Given the description of an element on the screen output the (x, y) to click on. 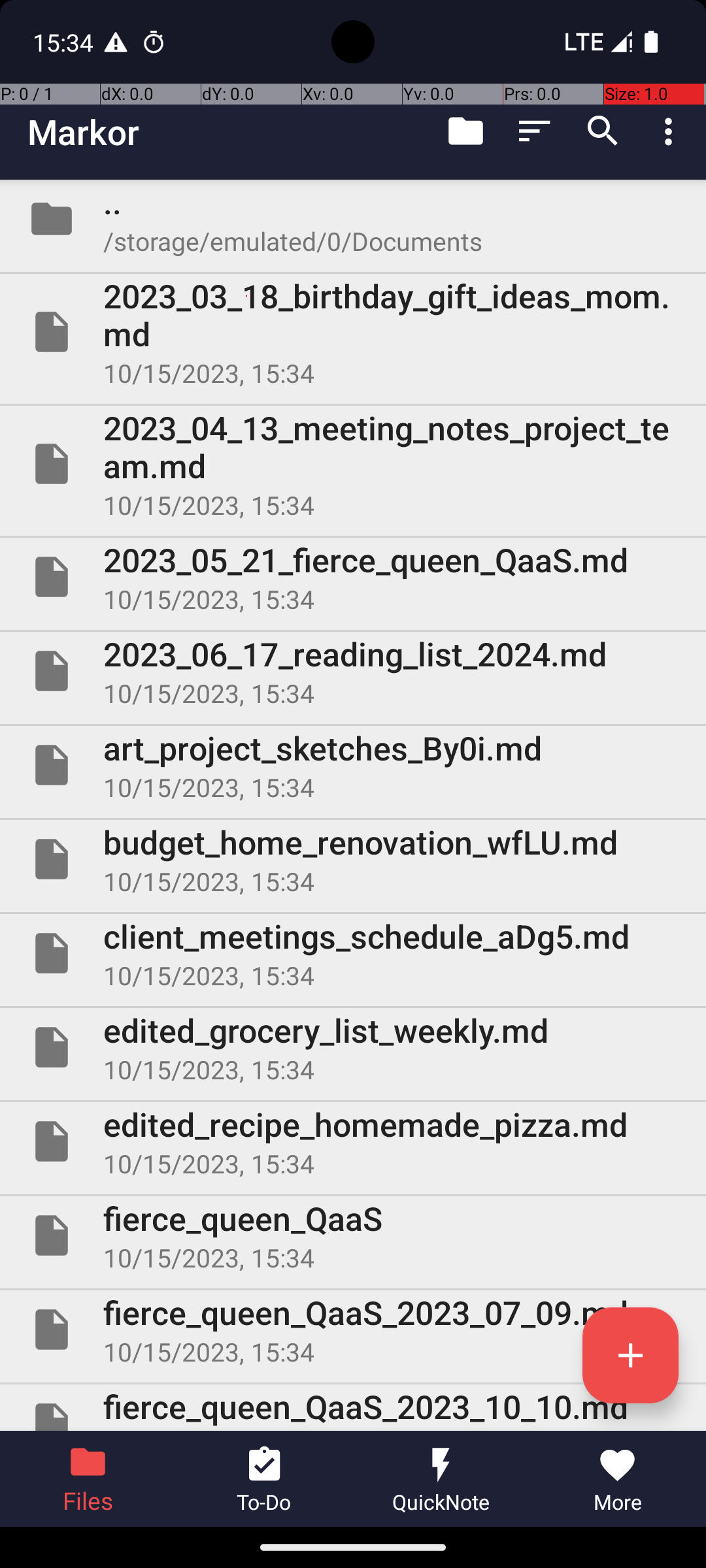
File 2023_03_18_birthday_gift_ideas_mom.md  Element type: android.widget.LinearLayout (353, 331)
File 2023_04_13_meeting_notes_project_team.md  Element type: android.widget.LinearLayout (353, 463)
File 2023_05_21_fierce_queen_QaaS.md  Element type: android.widget.LinearLayout (353, 576)
File 2023_06_17_reading_list_2024.md  Element type: android.widget.LinearLayout (353, 670)
File art_project_sketches_By0i.md  Element type: android.widget.LinearLayout (353, 764)
File budget_home_renovation_wfLU.md  Element type: android.widget.LinearLayout (353, 858)
File client_meetings_schedule_aDg5.md  Element type: android.widget.LinearLayout (353, 953)
File edited_grocery_list_weekly.md  Element type: android.widget.LinearLayout (353, 1047)
File edited_recipe_homemade_pizza.md  Element type: android.widget.LinearLayout (353, 1141)
File fierce_queen_QaaS  Element type: android.widget.LinearLayout (353, 1235)
File fierce_queen_QaaS_2023_07_09.md  Element type: android.widget.LinearLayout (353, 1329)
File fierce_queen_QaaS_2023_10_10.md  Element type: android.widget.LinearLayout (353, 1407)
